Given the description of an element on the screen output the (x, y) to click on. 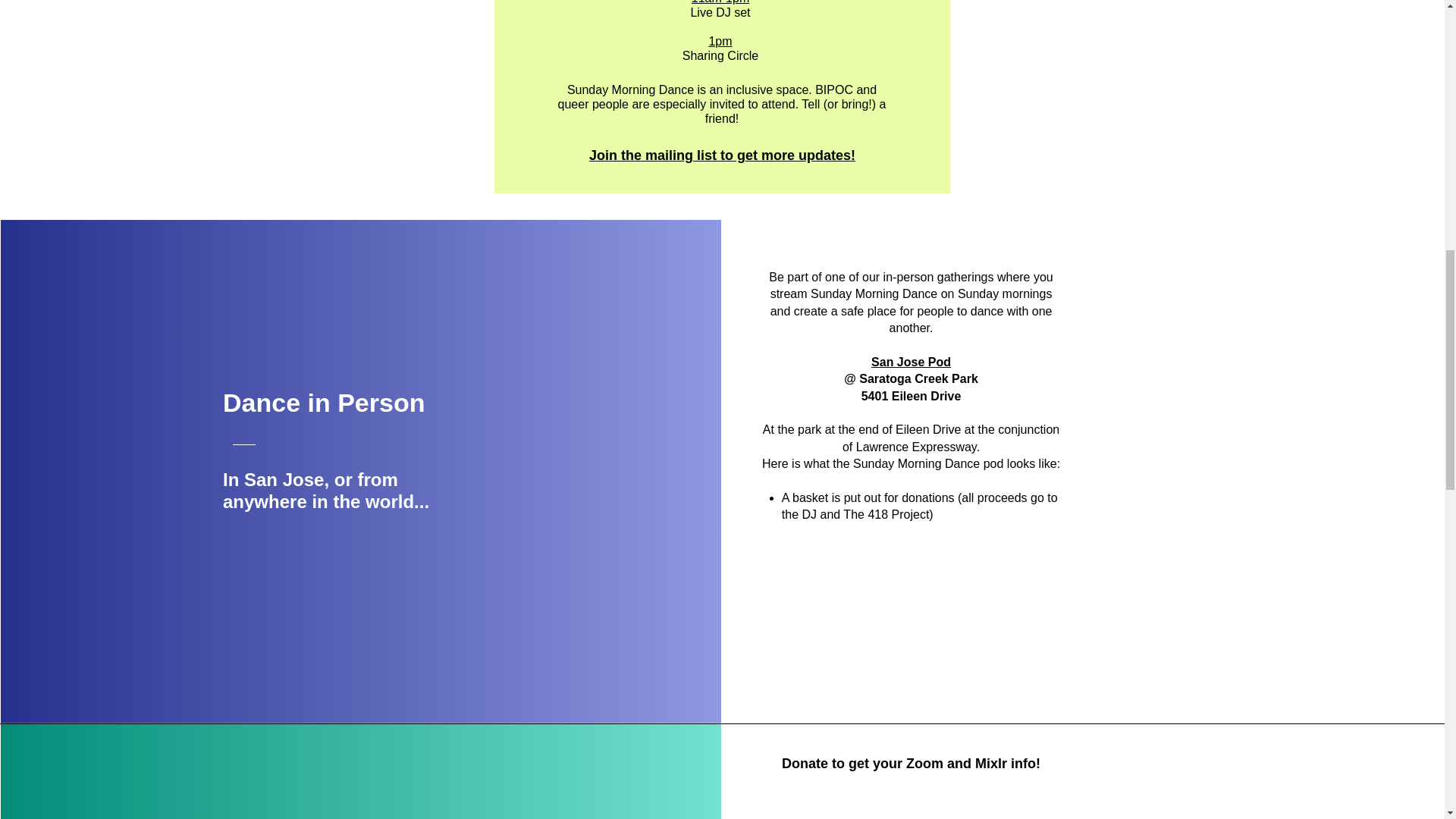
Join the mailing list to get more updates! (722, 155)
